Given the description of an element on the screen output the (x, y) to click on. 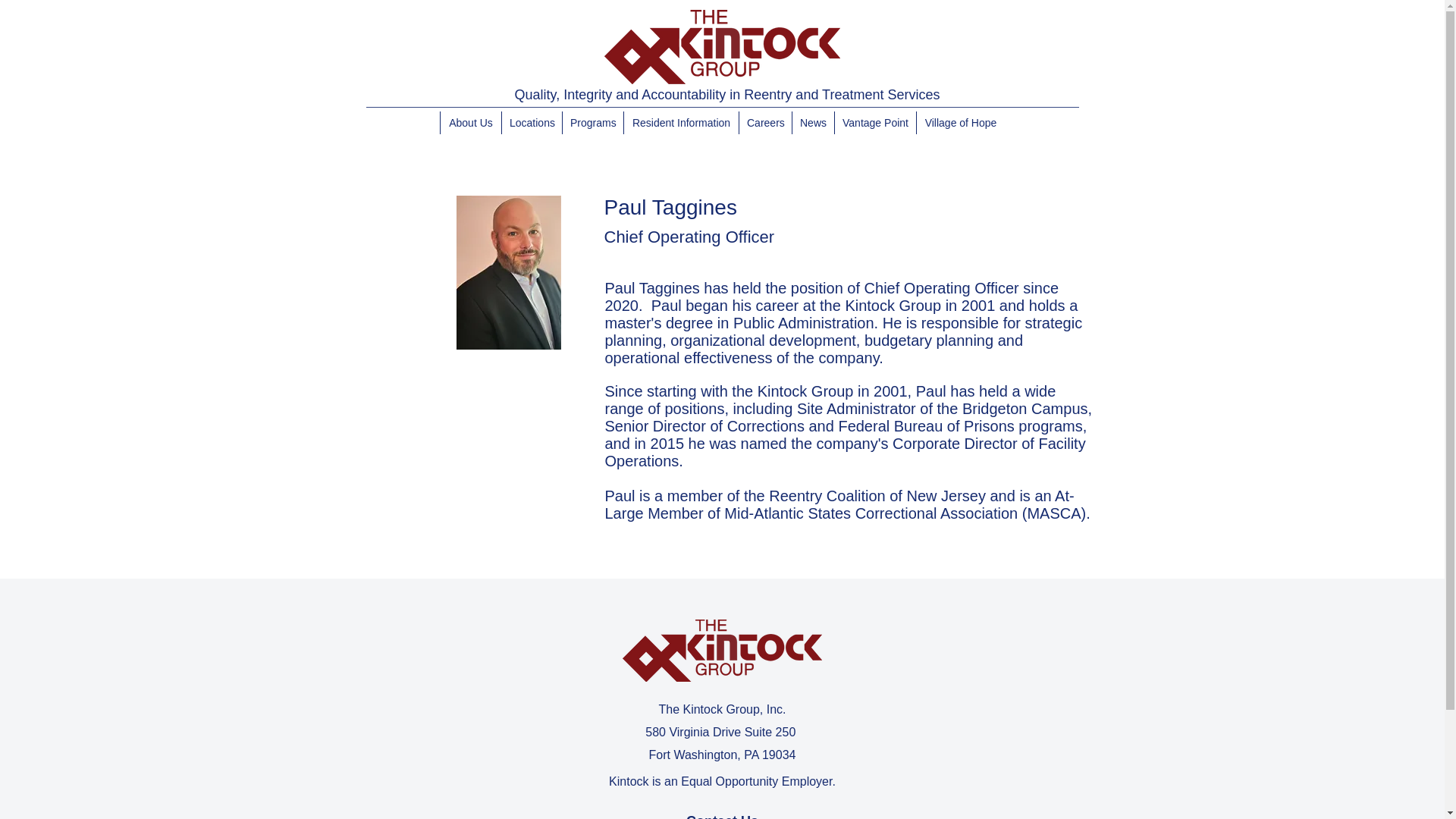
Contact Us (721, 816)
Vantage Point (874, 122)
Village of Hope (959, 122)
Resident Information (680, 122)
Careers (765, 122)
Locations (531, 122)
News (813, 122)
About Us (469, 122)
Programs (592, 122)
